Given the description of an element on the screen output the (x, y) to click on. 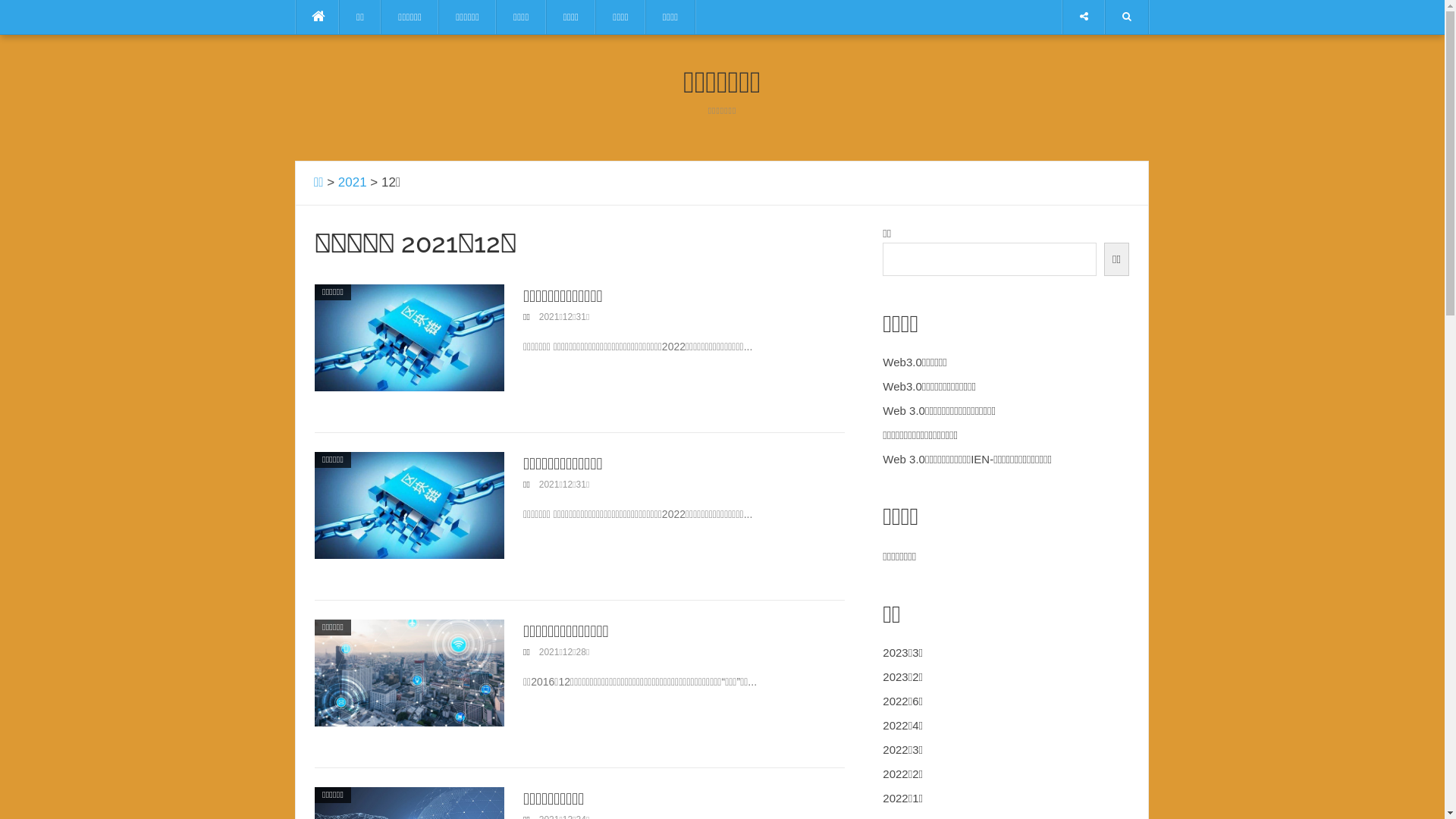
2021 Element type: text (352, 182)
